Given the description of an element on the screen output the (x, y) to click on. 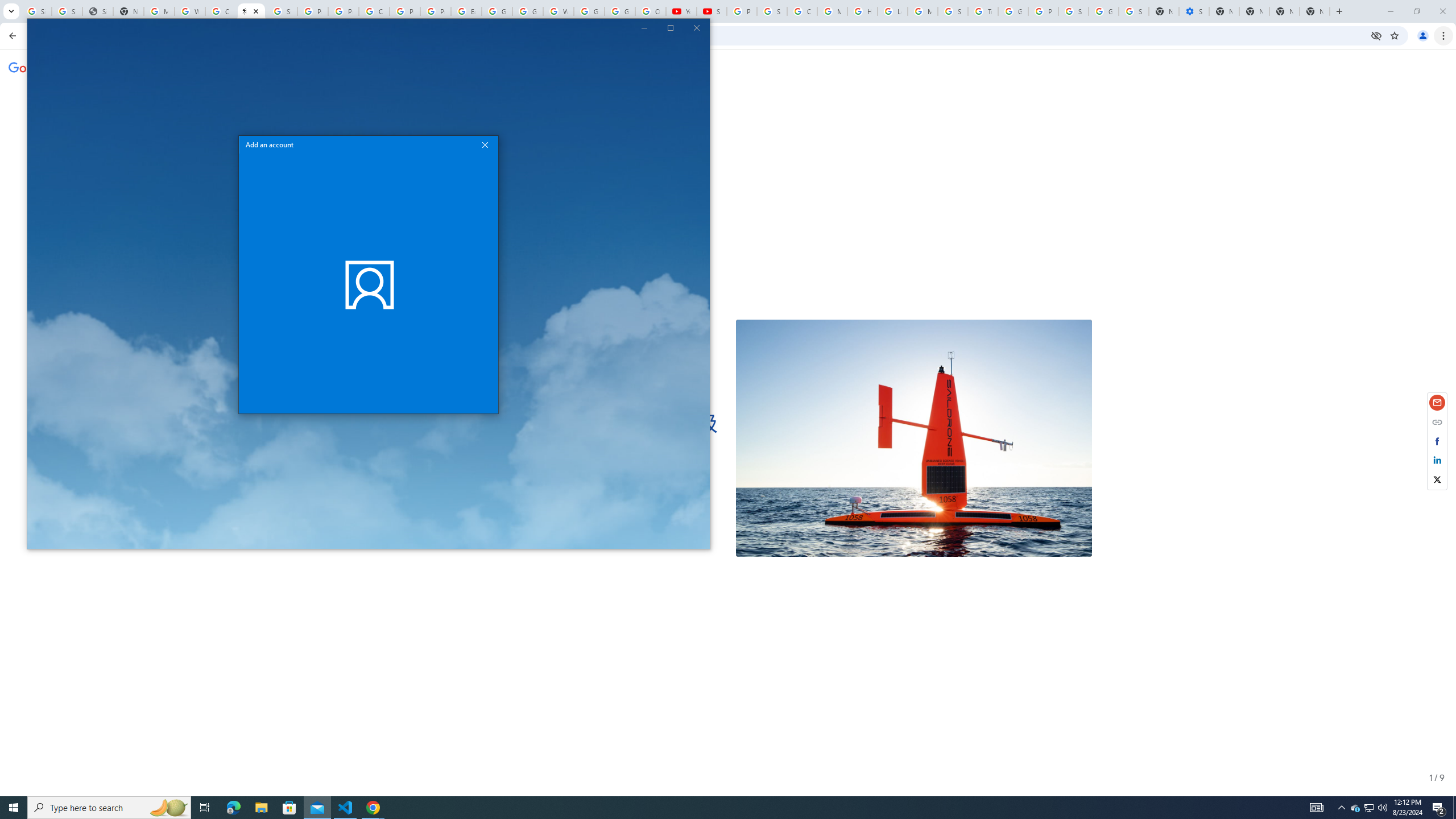
AutomationID: 4105 (1316, 807)
Microsoft Edge (233, 807)
Start (13, 807)
Notification Chevron (1341, 807)
Action Center, 2 new notifications (1439, 807)
Minimize Mail (644, 27)
Q2790: 100% (1382, 807)
